Given the description of an element on the screen output the (x, y) to click on. 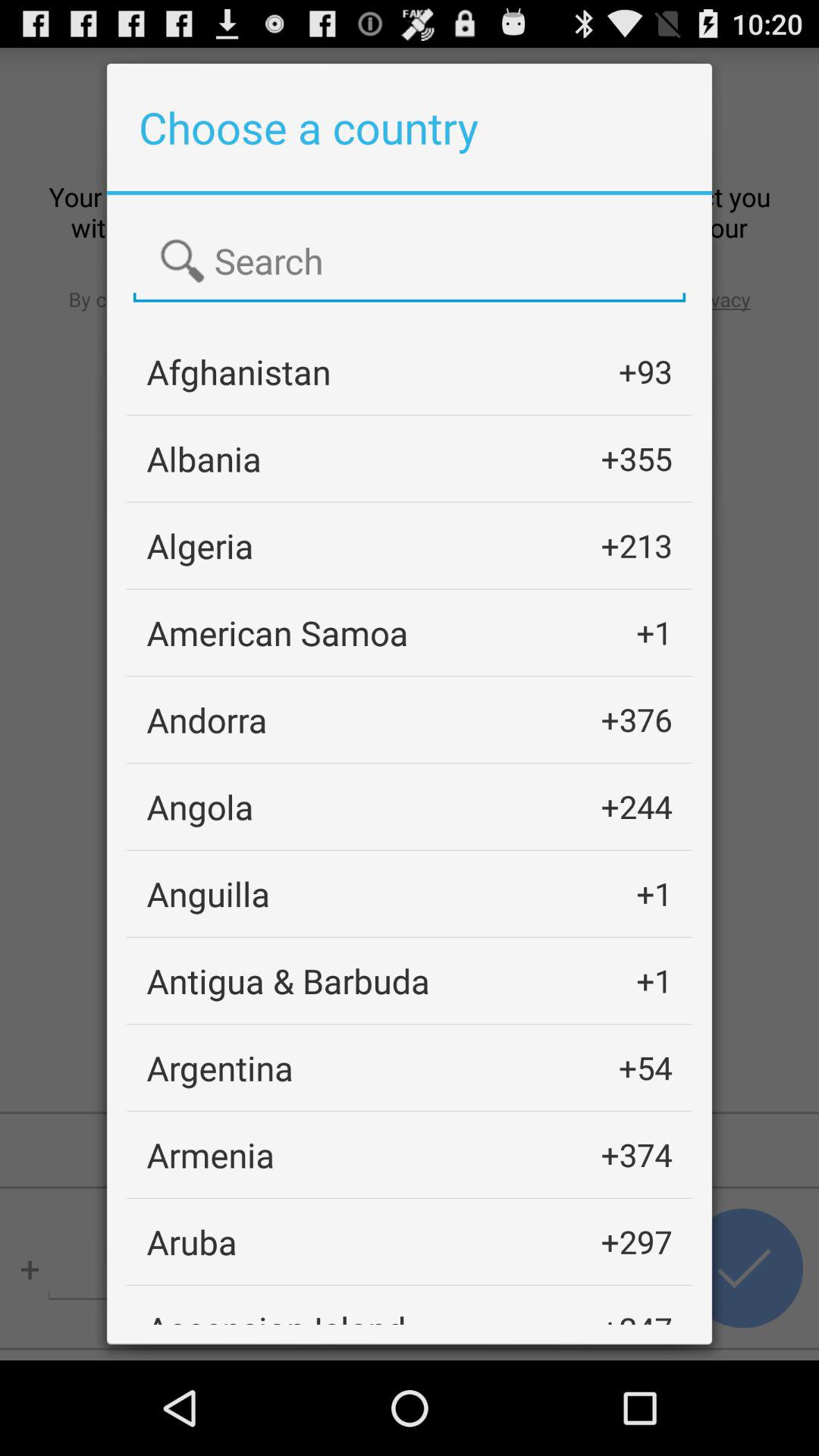
click app above andorra item (277, 632)
